Given the description of an element on the screen output the (x, y) to click on. 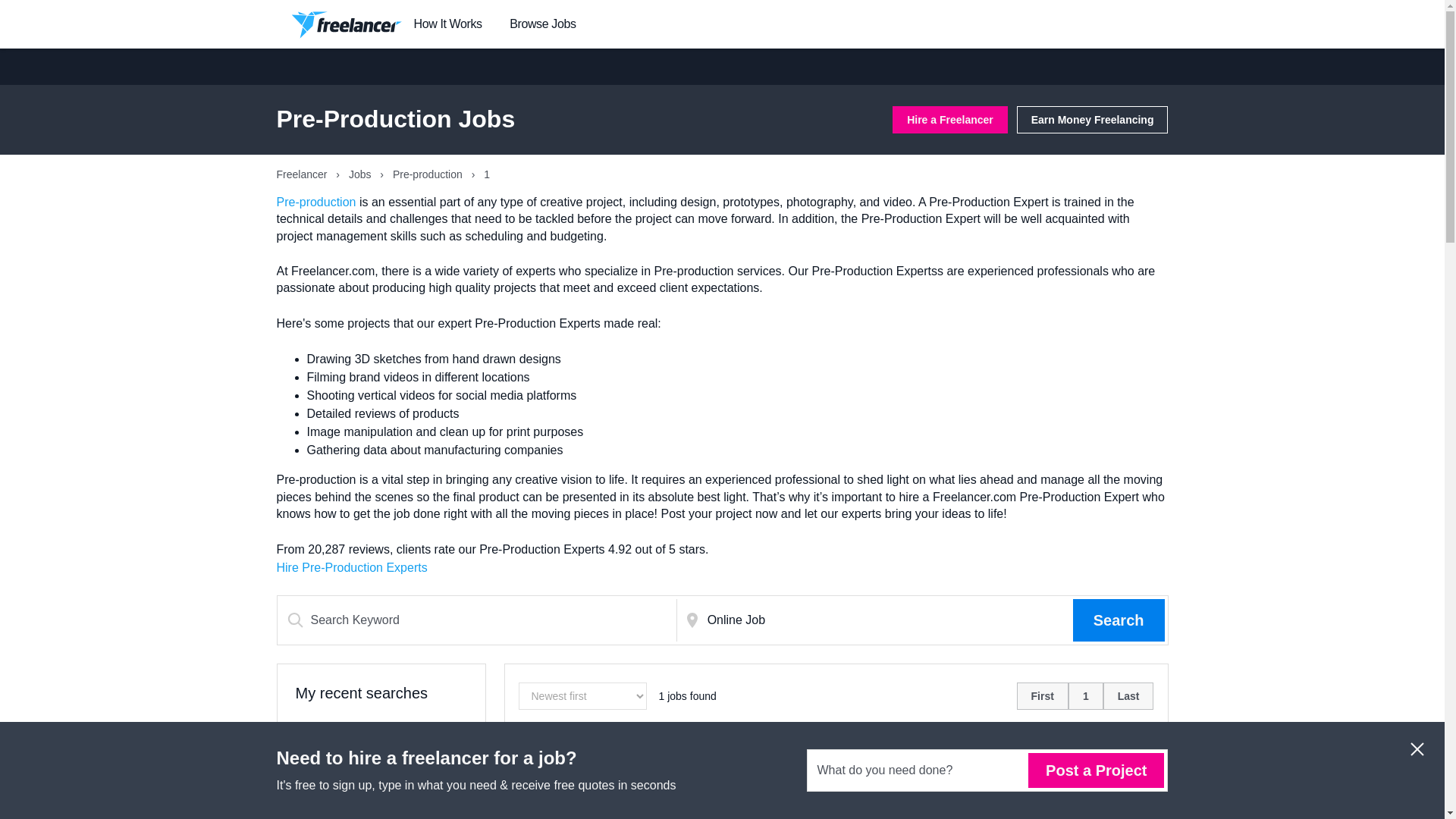
Pre-production (315, 201)
Pre-production (429, 174)
Jobs (361, 174)
Online Job (887, 619)
Earn Money Freelancing (1092, 119)
Last (1128, 696)
Hire a Freelancer (949, 119)
Online Job (887, 619)
How It Works (447, 24)
